Given the description of an element on the screen output the (x, y) to click on. 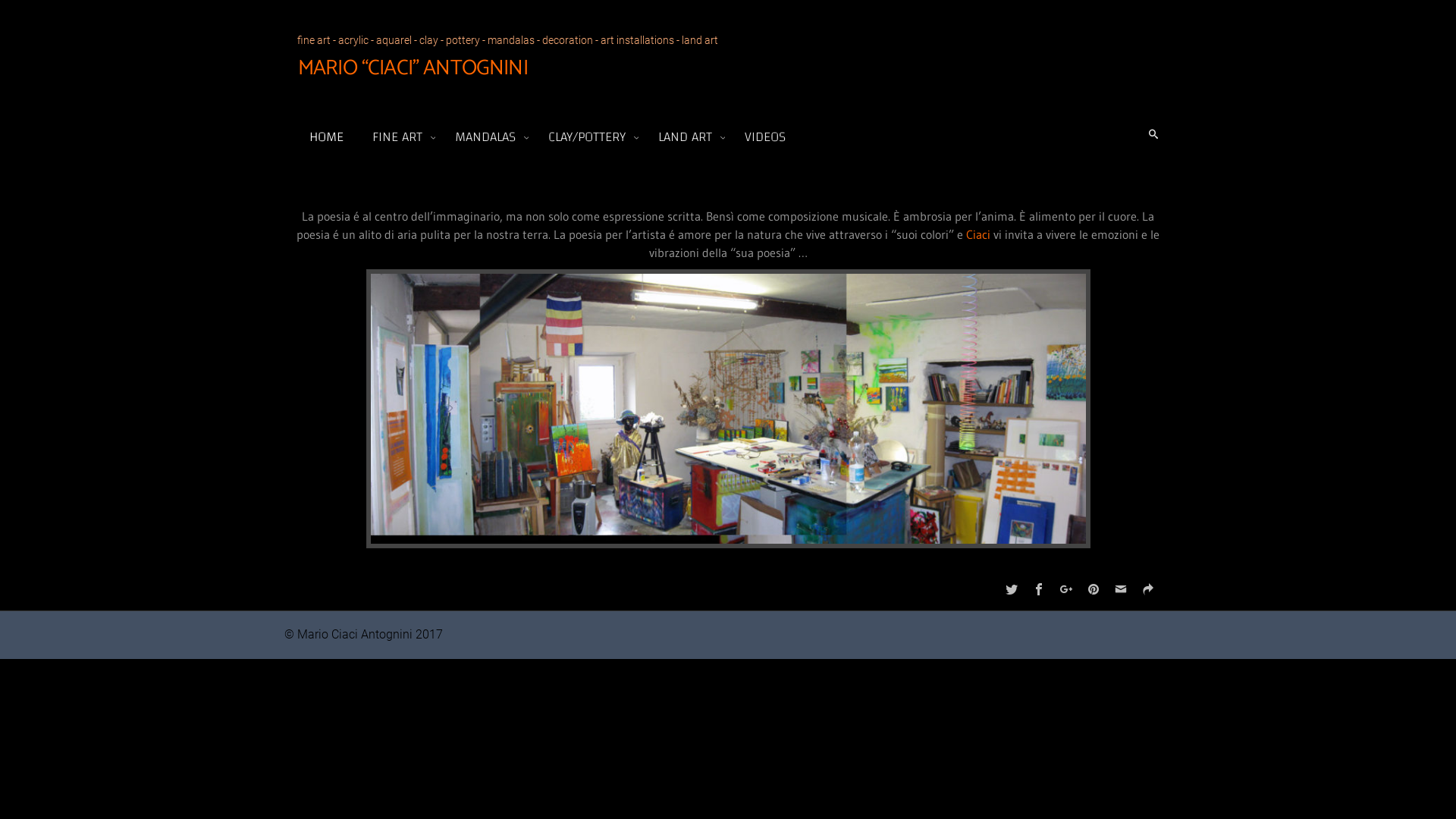
FINE ART Element type: text (399, 136)
LAND ART Element type: text (687, 136)
VIDEOS Element type: text (765, 136)
CLAY/POTTERY Element type: text (589, 136)
MANDALAS Element type: text (487, 136)
HOME Element type: text (326, 136)
